Given the description of an element on the screen output the (x, y) to click on. 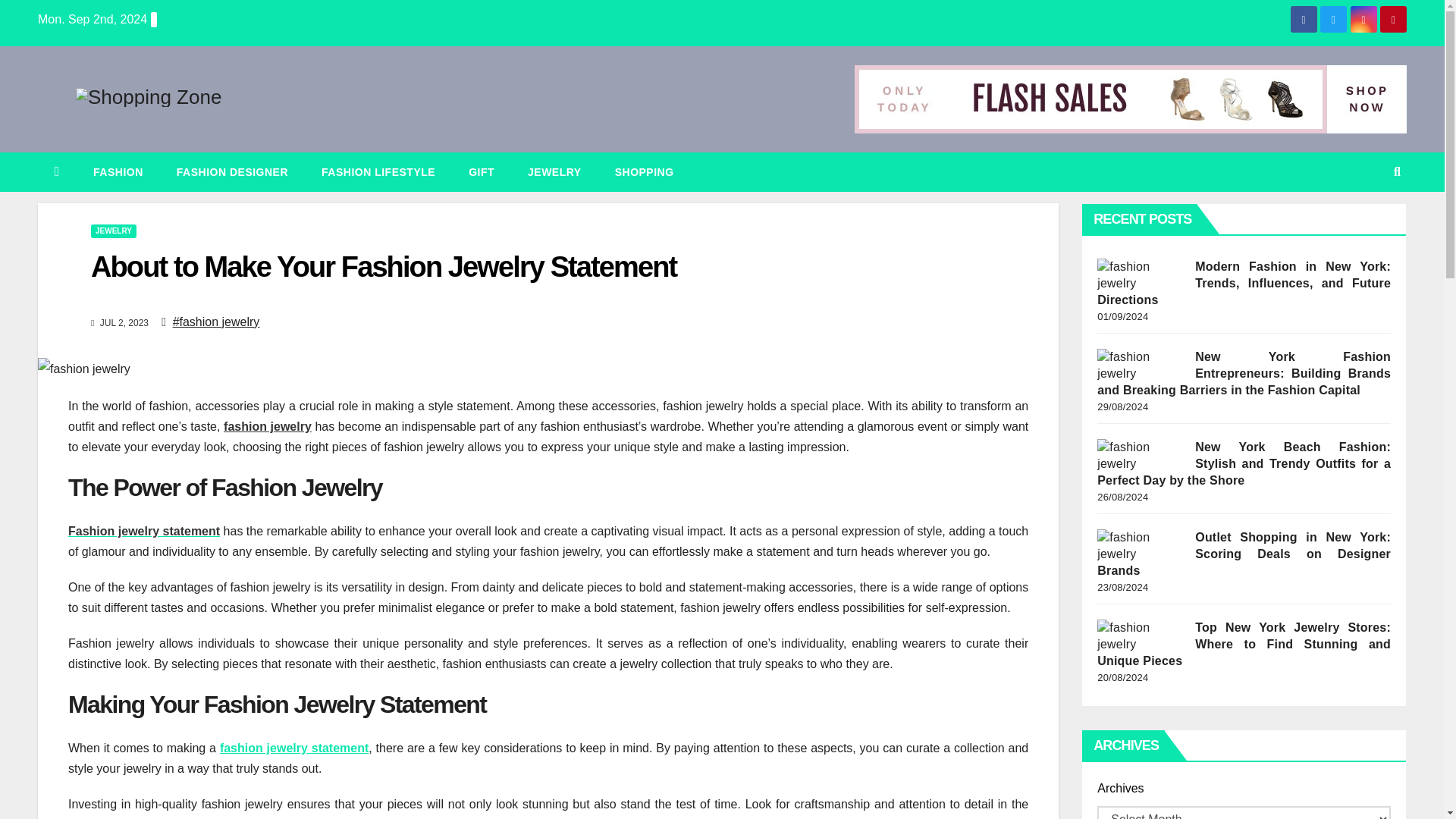
Fashion Designer (232, 171)
FASHION DESIGNER (232, 171)
GIFT (481, 171)
Fashion (118, 171)
FASHION (118, 171)
Gift (481, 171)
fashion jewelry (267, 426)
Fashion Lifestyle (377, 171)
JEWELRY (554, 171)
